Given the description of an element on the screen output the (x, y) to click on. 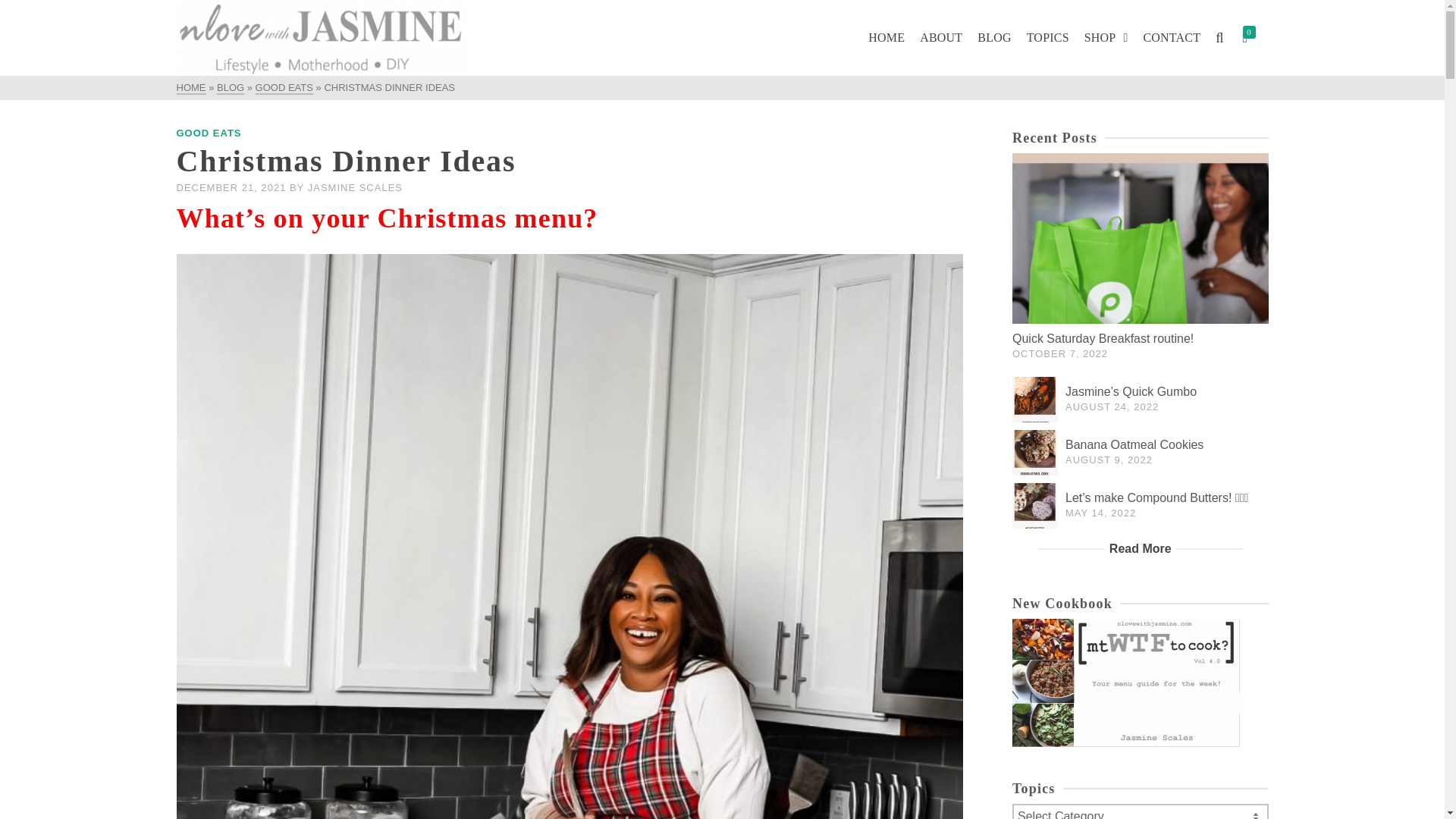
TOPICS (1048, 37)
GOOD EATS (284, 88)
JASMINE SCALES (355, 187)
Quick Saturday Breakfast routine! (1139, 238)
Banana Oatmeal Cookies (1034, 452)
GOOD EATS (208, 132)
SHOP (1106, 37)
BLOG (230, 88)
ABOUT (940, 37)
0 (1251, 38)
